Given the description of an element on the screen output the (x, y) to click on. 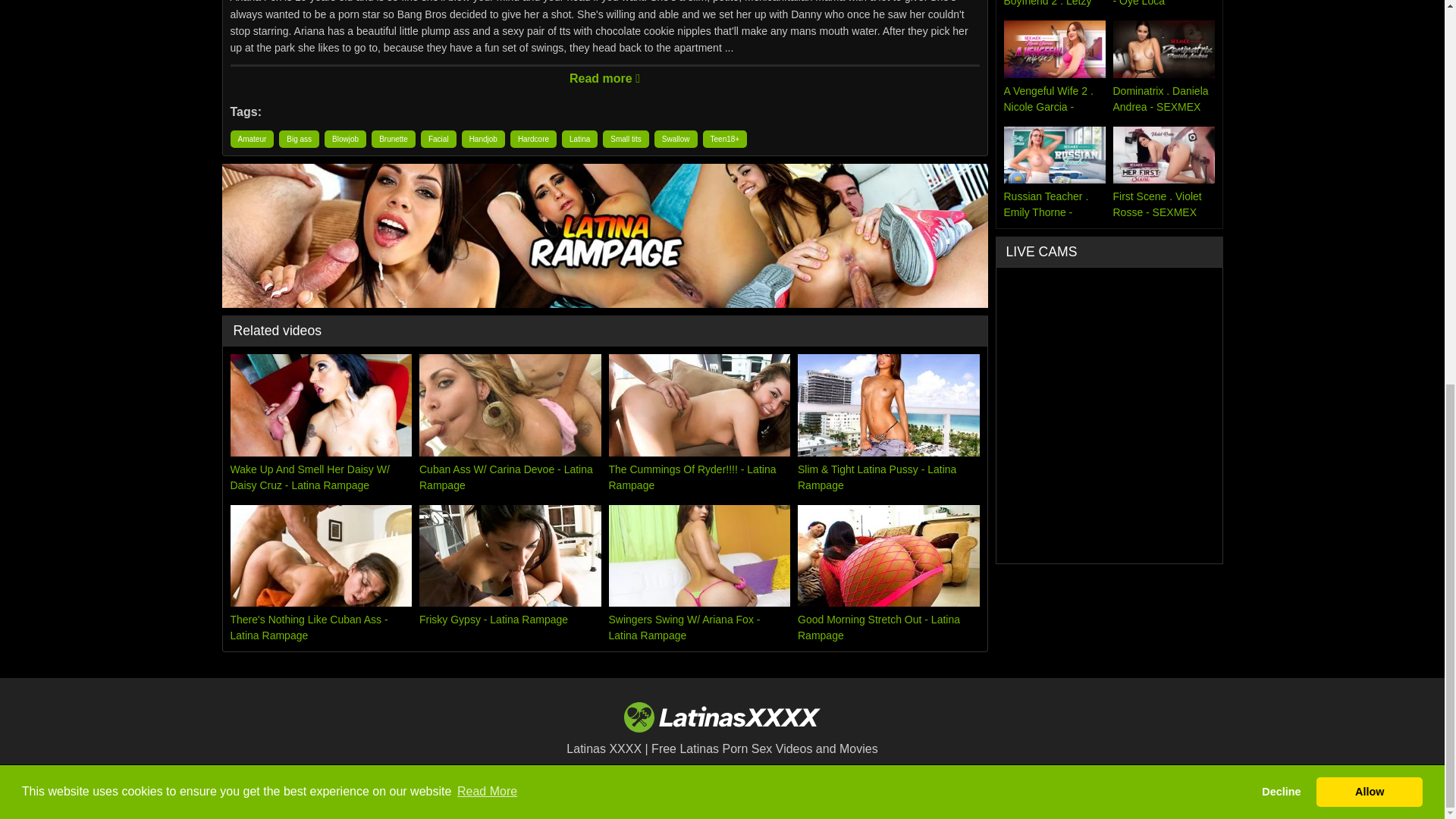
Amateur (252, 139)
Read more (604, 75)
Blowjob (345, 139)
Big ass (298, 139)
